Given the description of an element on the screen output the (x, y) to click on. 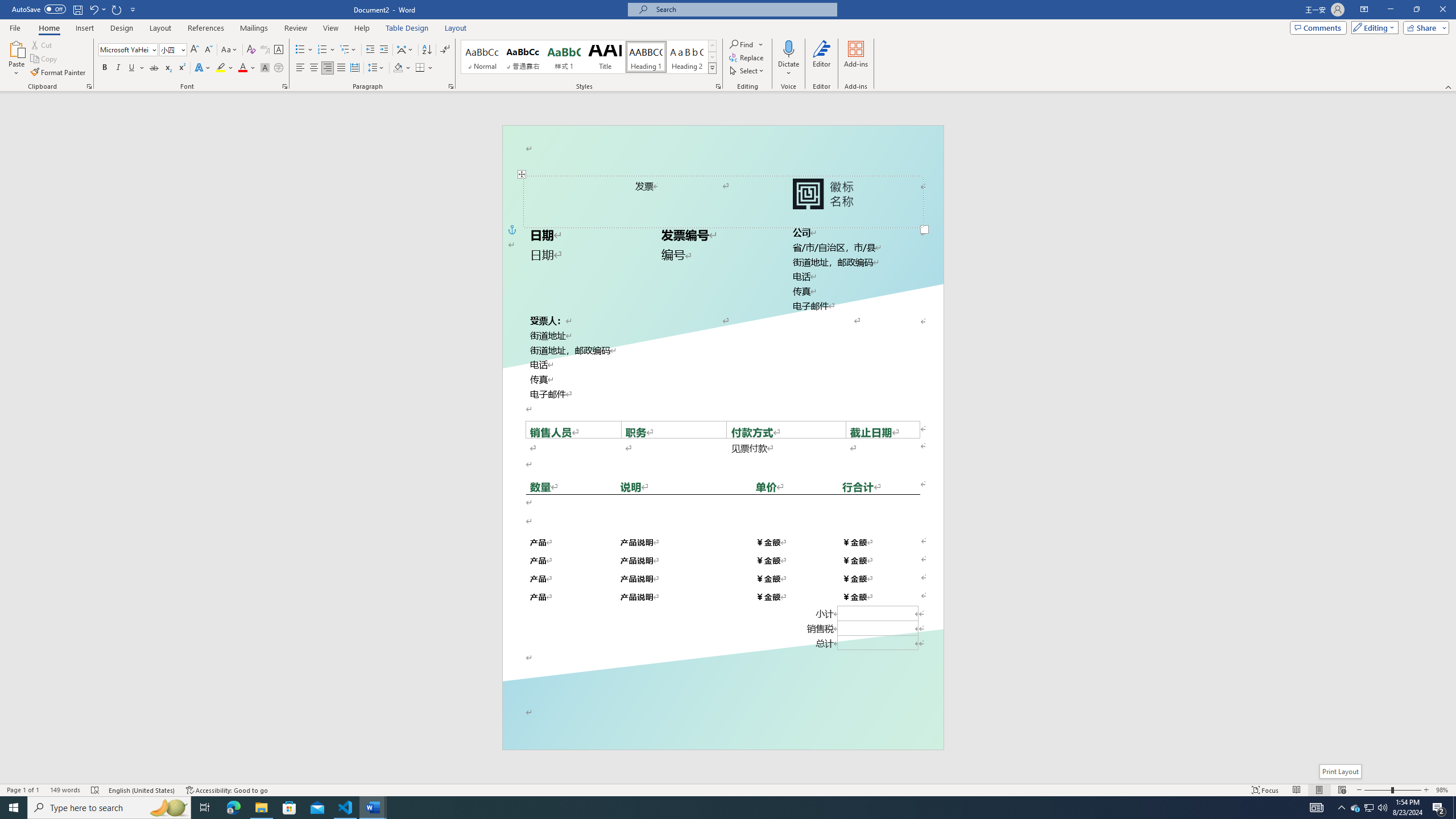
Character Shading (264, 67)
Format Painter (58, 72)
Phonetic Guide... (264, 49)
Title (605, 56)
Text Highlight Color (224, 67)
Page 1 content (722, 425)
AutomationID: QuickStylesGallery (588, 56)
Align Left (300, 67)
Shrink Font (208, 49)
